Given the description of an element on the screen output the (x, y) to click on. 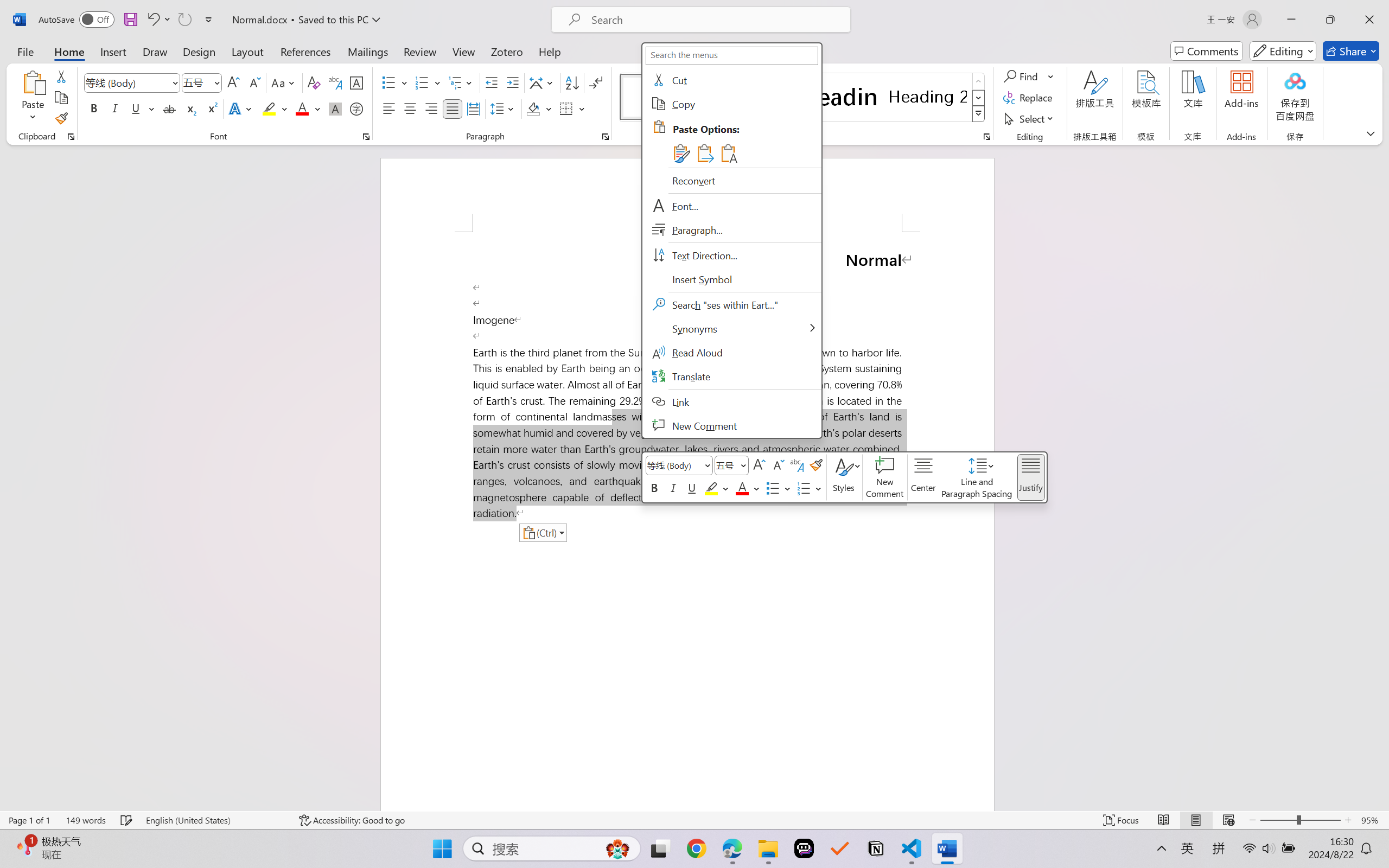
Microsoft search (715, 19)
Line and Paragraph Spacing (503, 108)
Synonyms (730, 328)
Text Direction... (730, 255)
Class: NetUIScrollBar (1382, 477)
Text Highlight Color (274, 108)
Open (215, 82)
